Given the description of an element on the screen output the (x, y) to click on. 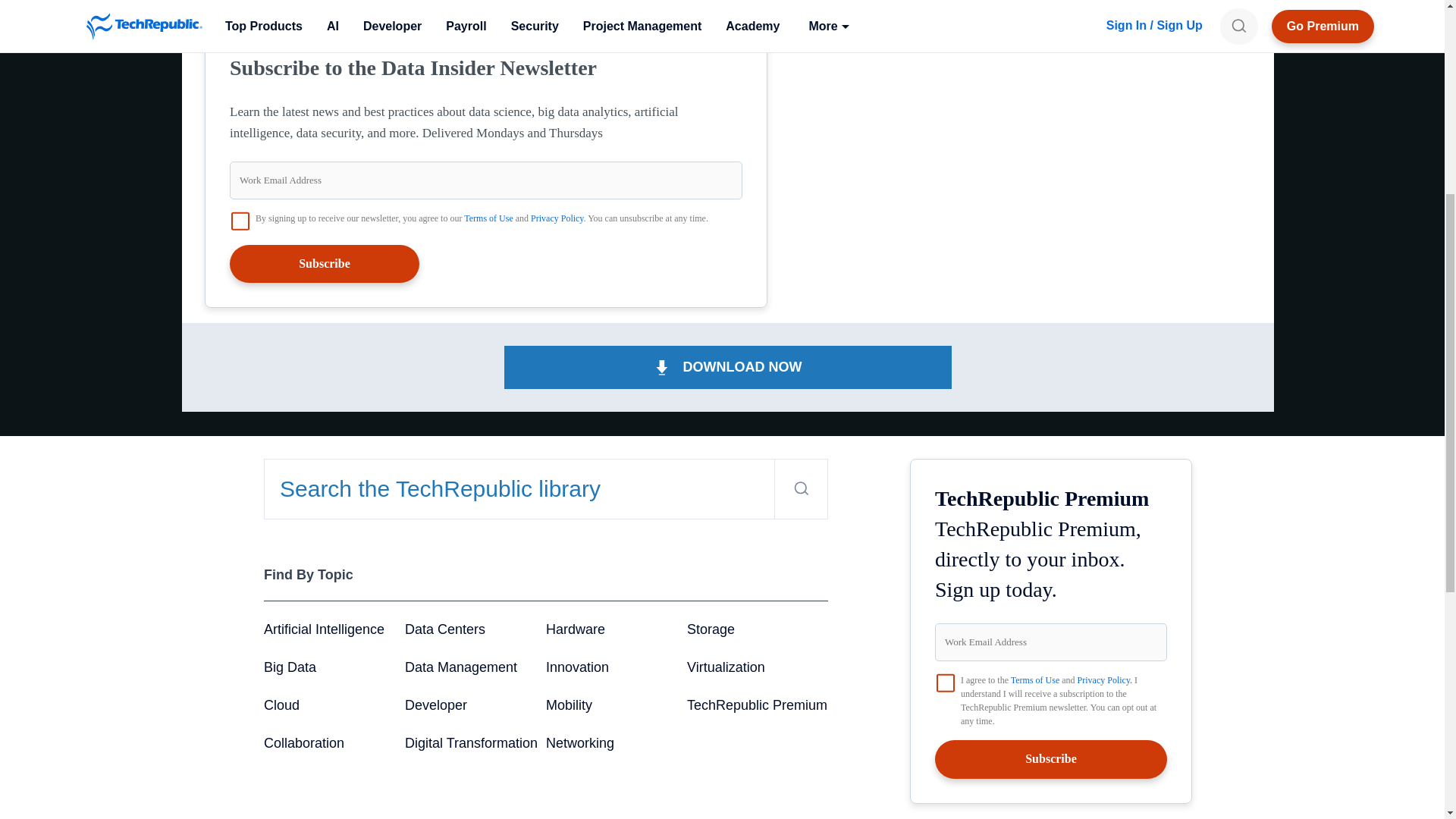
Subscribe (324, 263)
on (945, 683)
Privacy Policy (557, 217)
on (239, 221)
Terms of Use (488, 217)
